Given the description of an element on the screen output the (x, y) to click on. 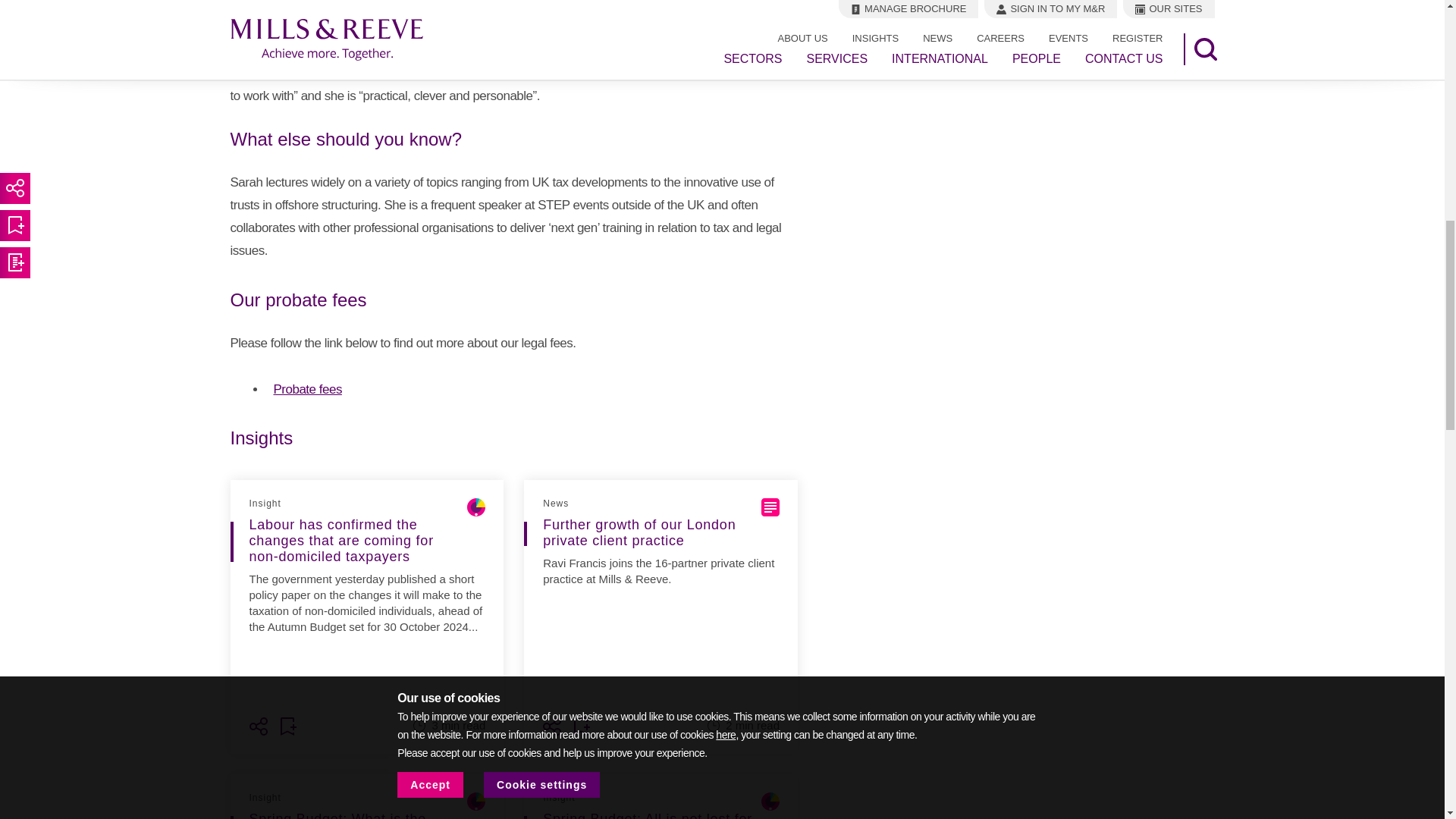
Further growth of our London private client practice  (660, 603)
Spring Budget: What is the impact on non-domiciled clients? (366, 815)
